Given the description of an element on the screen output the (x, y) to click on. 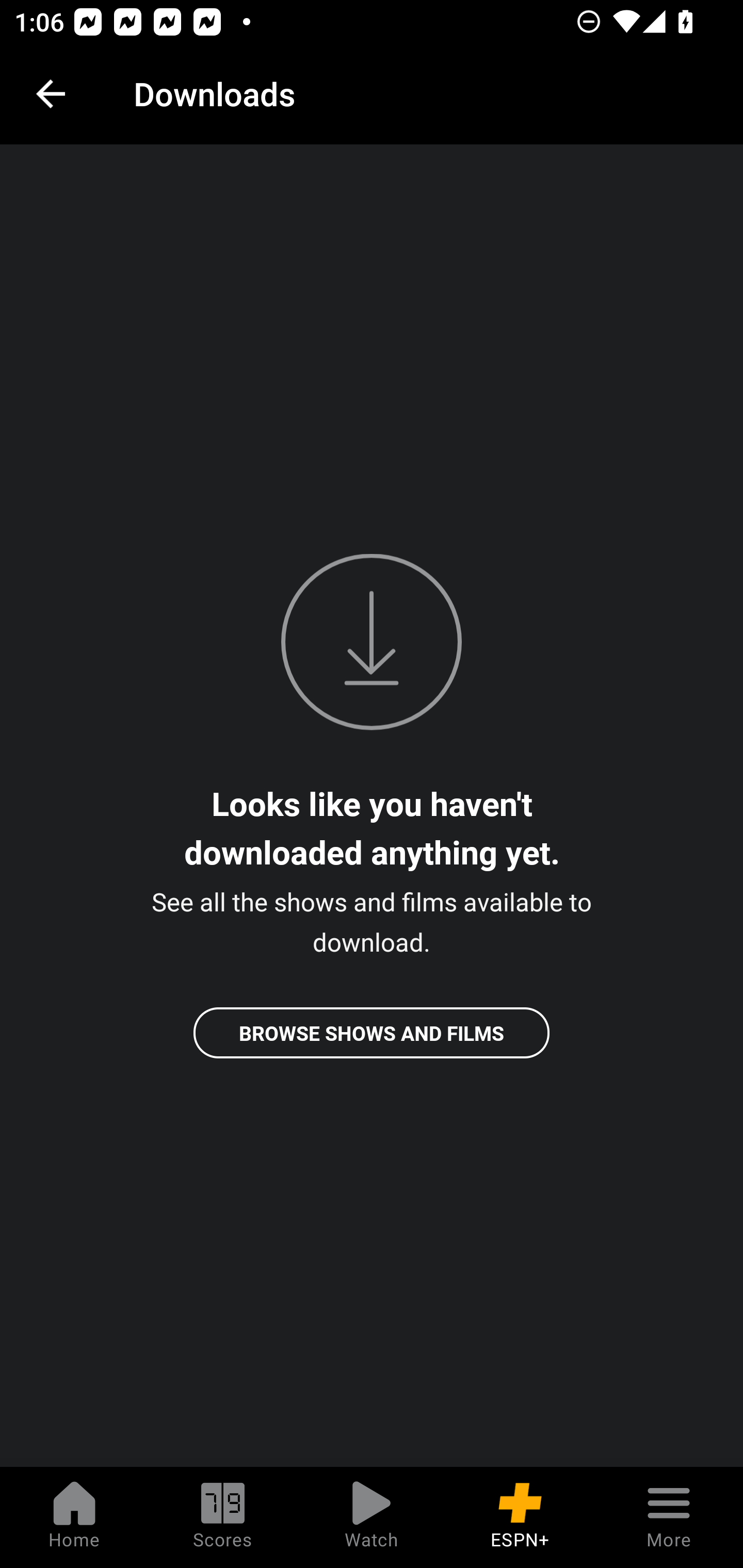
BROWSE SHOWS AND FILMS (371, 1032)
Home (74, 1517)
Scores (222, 1517)
Watch (371, 1517)
More (668, 1517)
